Given the description of an element on the screen output the (x, y) to click on. 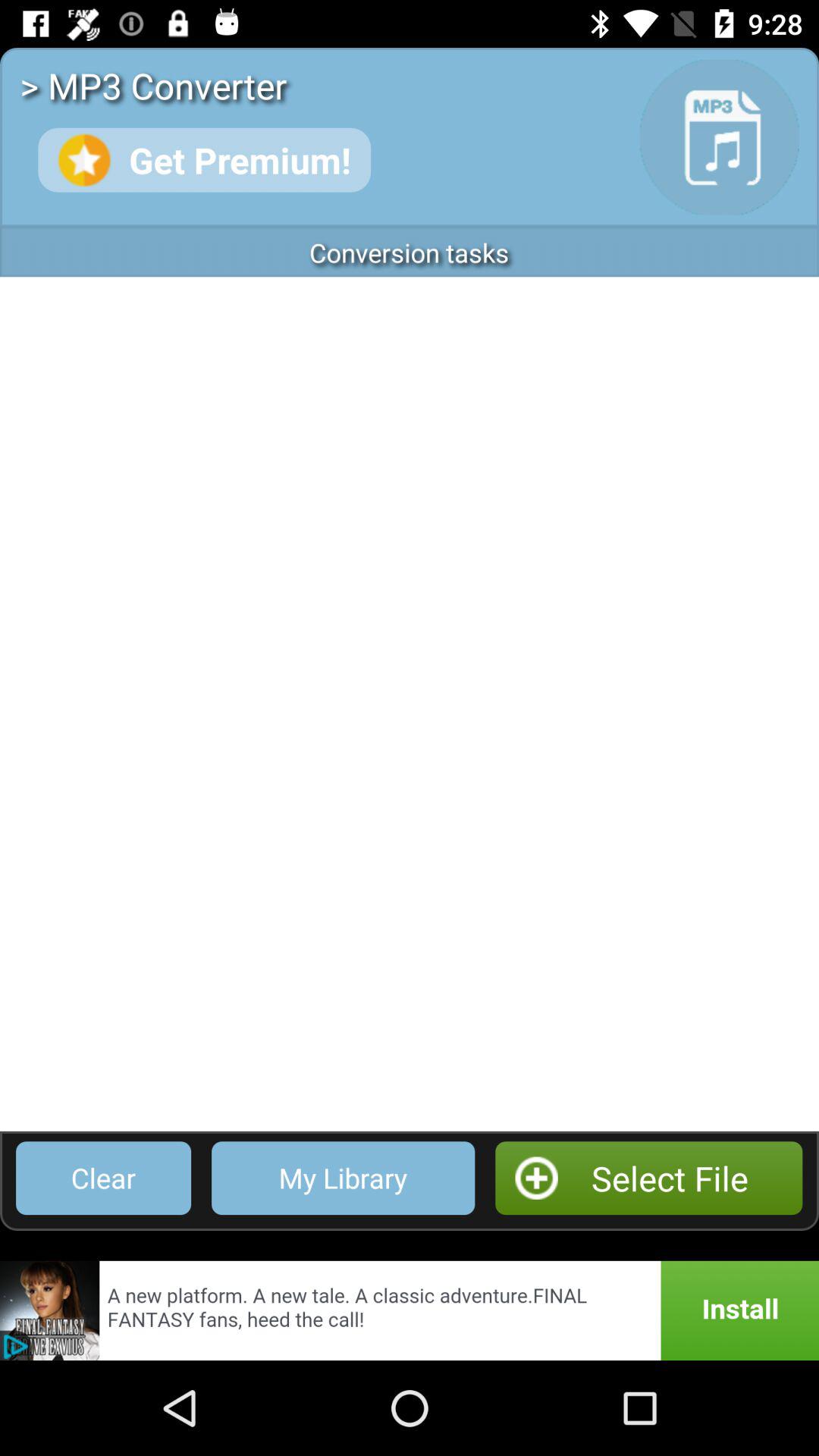
select the icon next to select file app (342, 1177)
